Given the description of an element on the screen output the (x, y) to click on. 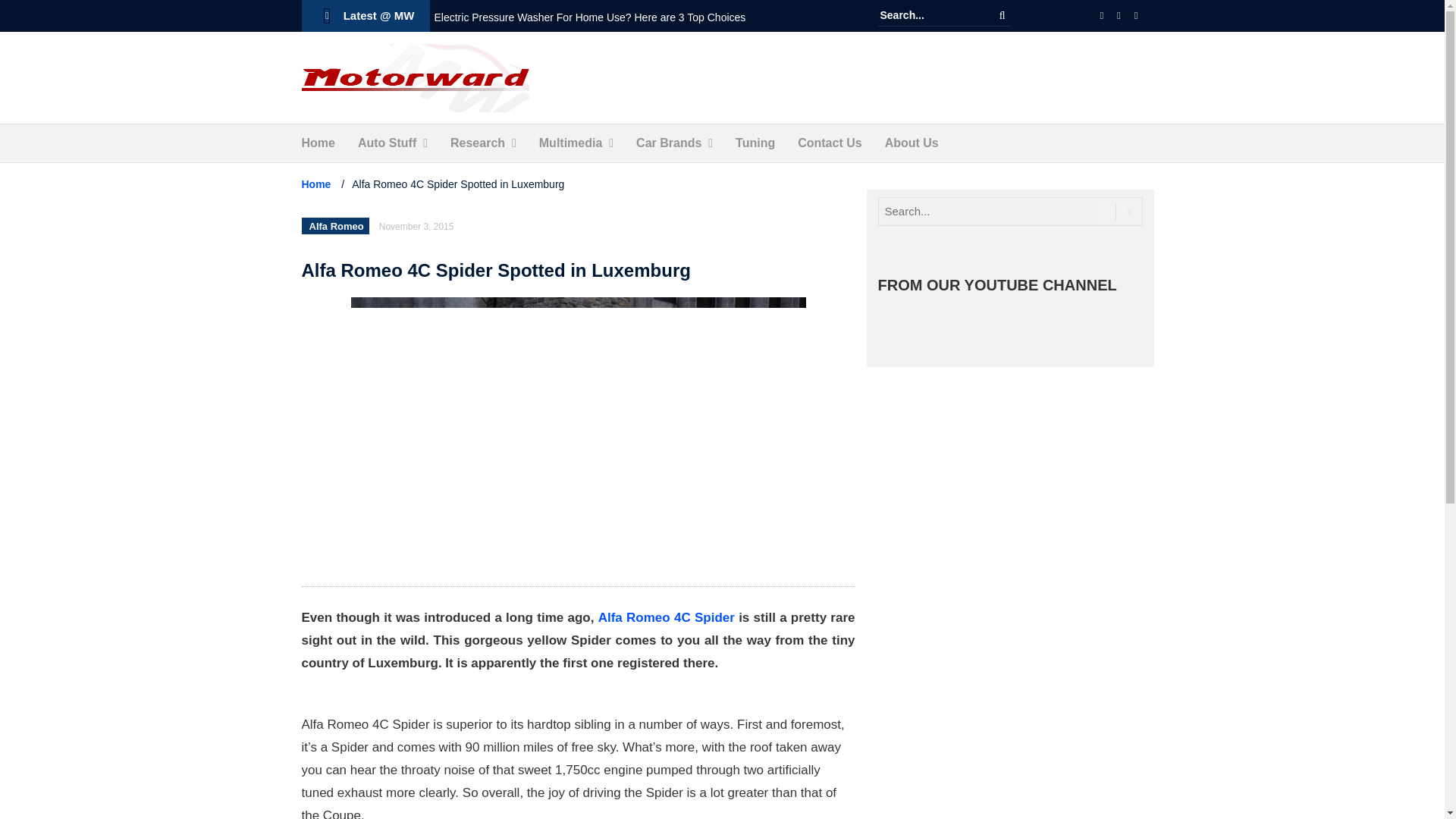
Multimedia (570, 143)
Research (477, 143)
Home (317, 143)
Search   (1002, 14)
Auto Stuff (387, 143)
Alfa Romeo 4C Spider Spot 0 600x361 (577, 433)
Car Brands (668, 143)
